Given the description of an element on the screen output the (x, y) to click on. 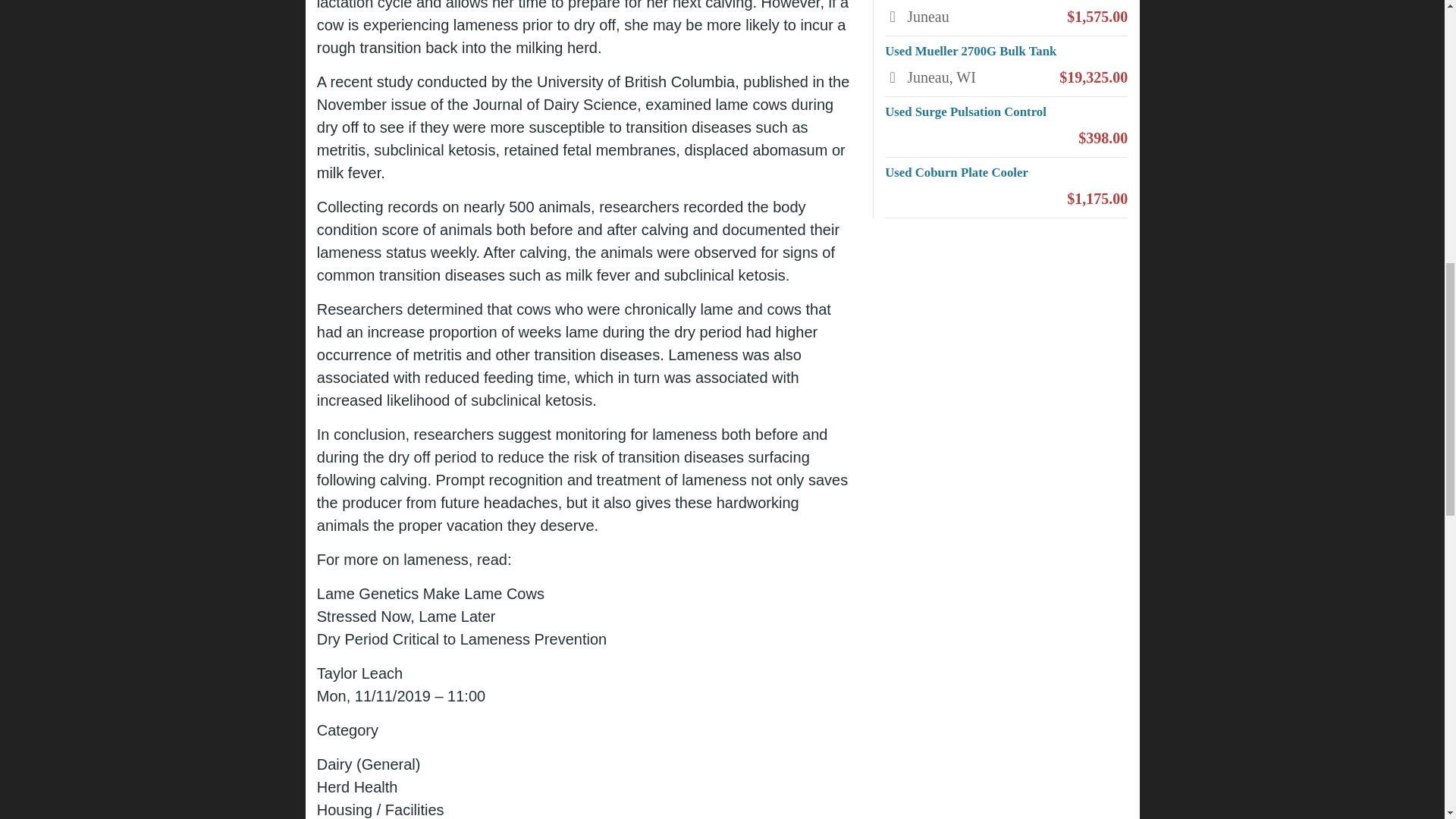
Used Coburn Plate Cooler (956, 172)
Used Mueller 2700G Bulk Tank (971, 51)
Used Surge Pulsation Control  (967, 111)
